Given the description of an element on the screen output the (x, y) to click on. 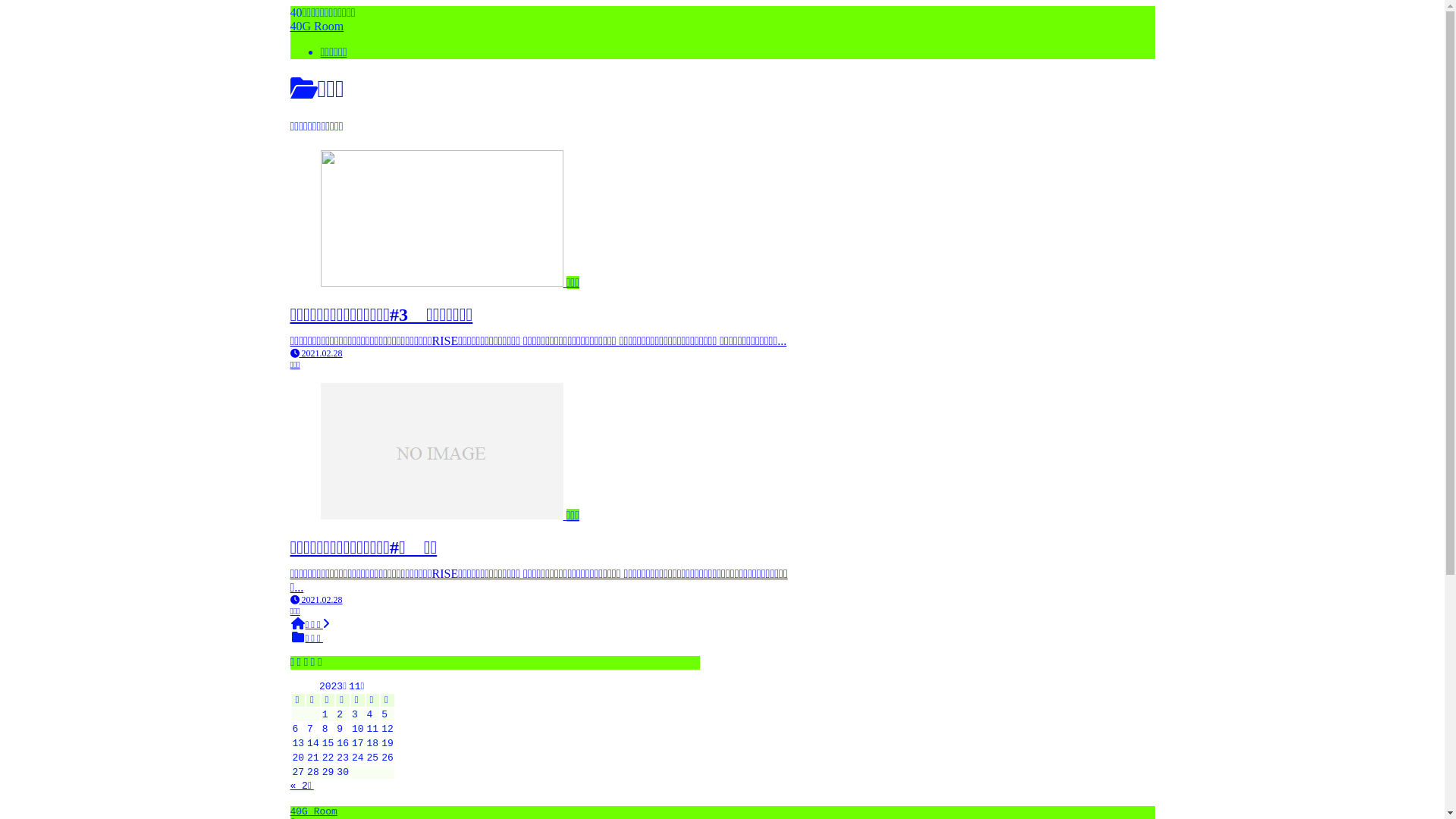
40G Room Element type: text (316, 25)
40G Room Element type: text (312, 811)
